Given the description of an element on the screen output the (x, y) to click on. 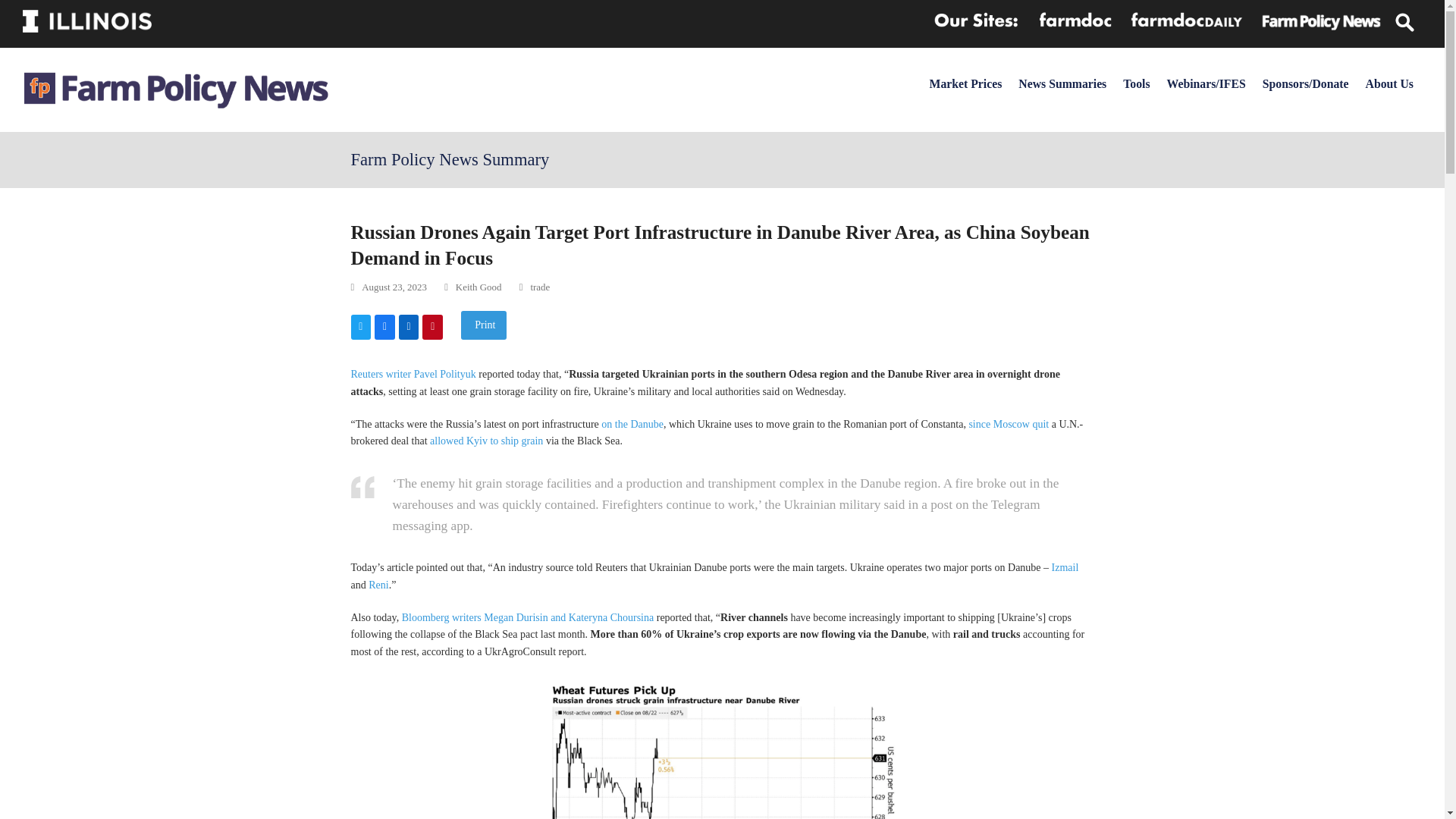
Print (483, 325)
Tools (1136, 84)
Market Prices (965, 84)
News Summaries (1062, 84)
Posts by Keith Good (478, 286)
